Given the description of an element on the screen output the (x, y) to click on. 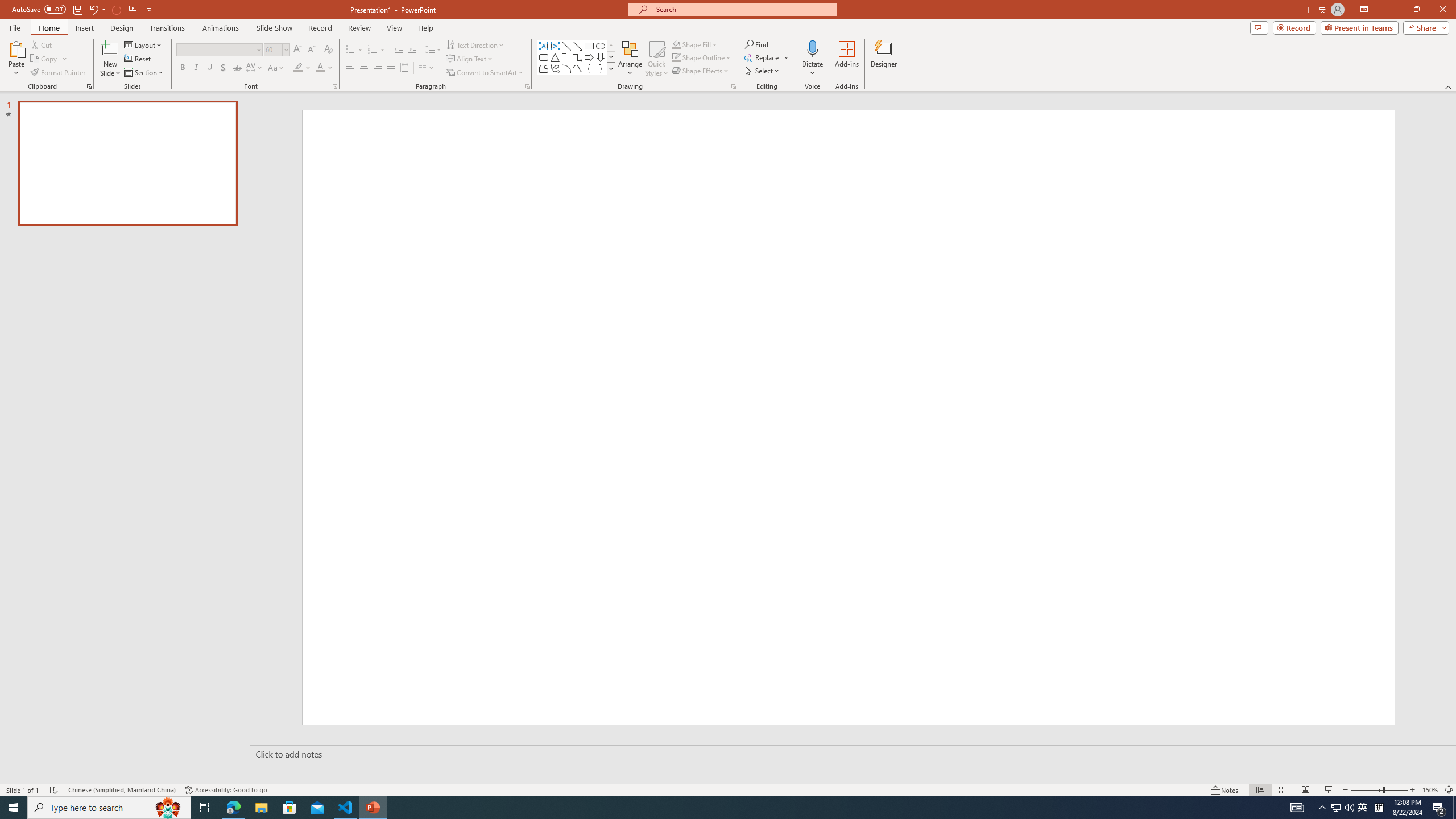
Zoom 150% (1430, 790)
Accessibility Checker Accessibility: Good to go (226, 790)
